Given the description of an element on the screen output the (x, y) to click on. 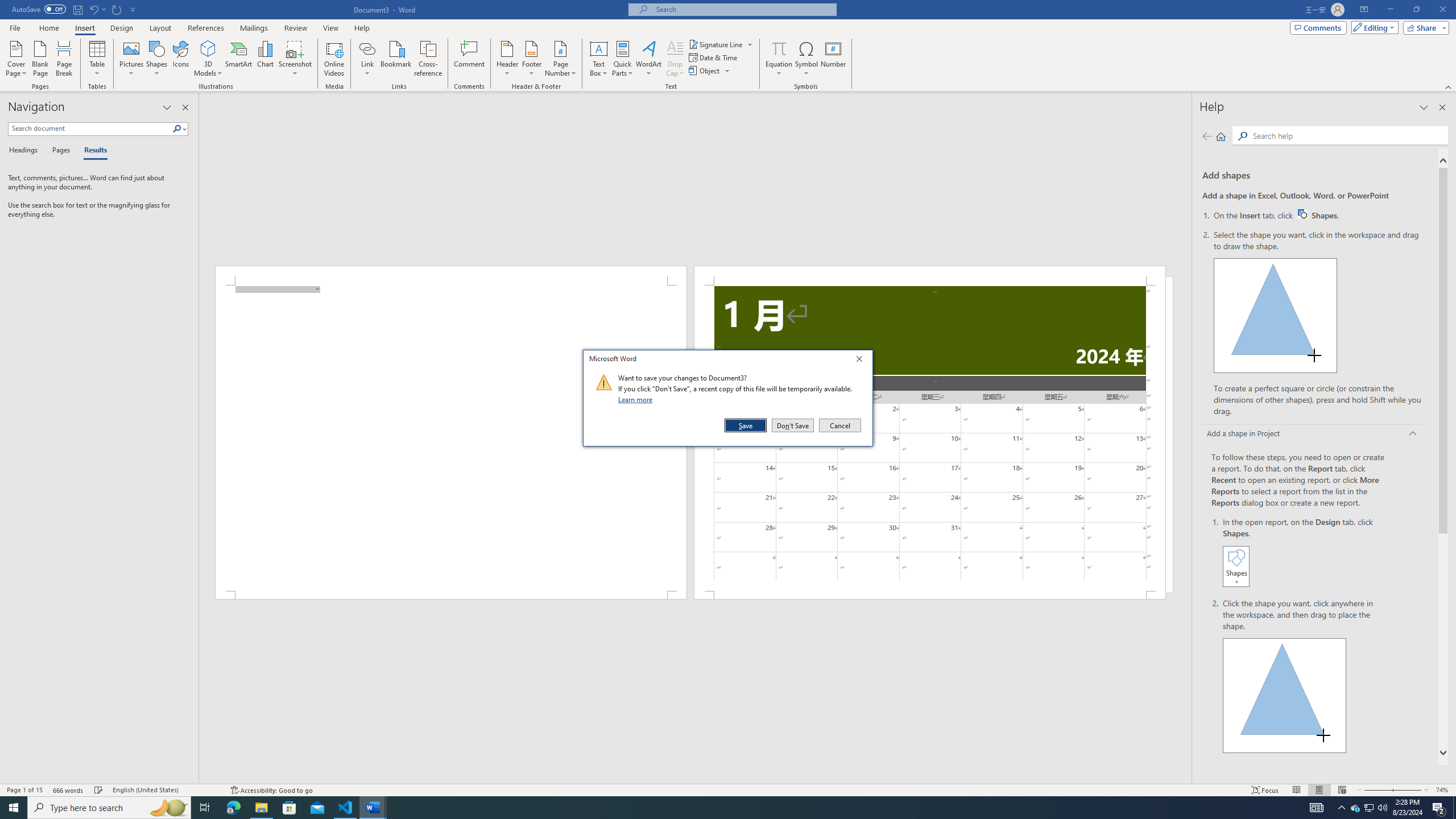
Header -Section 1- (930, 275)
Start (13, 807)
Screenshot (295, 58)
Search document (89, 128)
Running applications (717, 807)
User Promoted Notification Area (1368, 807)
Header (507, 58)
Undo New Page (92, 9)
Accessibility Checker Accessibility: Good to go (271, 790)
Online Videos... (333, 58)
Headings (25, 150)
Pages (59, 150)
Signature Line (716, 44)
